Given the description of an element on the screen output the (x, y) to click on. 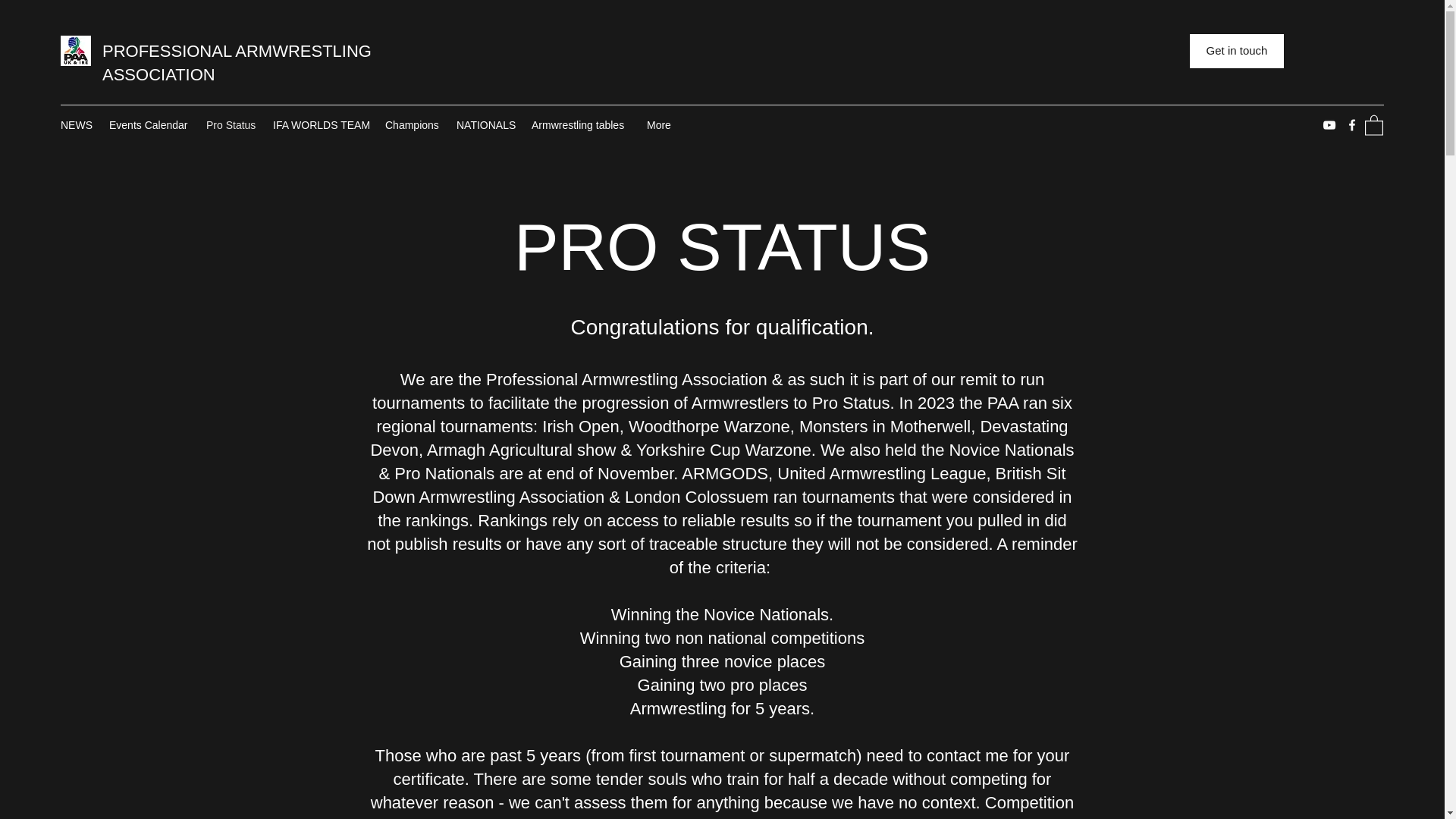
Get in touch (1236, 50)
IFA WORLDS TEAM (320, 124)
Events Calendar (149, 124)
Armwrestling tables (581, 124)
Champions (412, 124)
Pro Status (231, 124)
NEWS (76, 124)
NATIONALS (486, 124)
PROFESSIONAL ARMWRESTLING ASSOCIATION (236, 62)
